Given the description of an element on the screen output the (x, y) to click on. 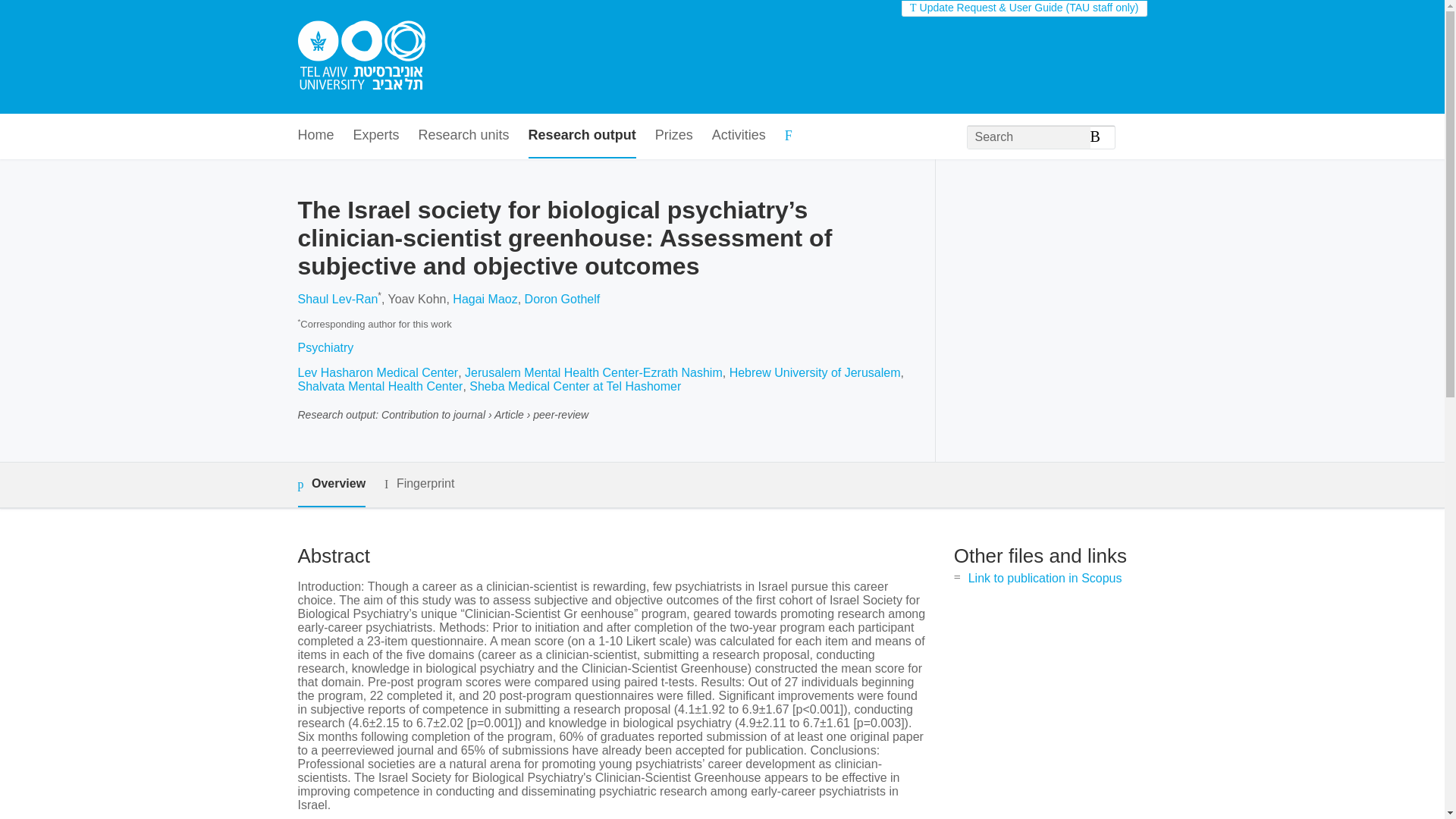
Research units (464, 135)
Link to publication in Scopus (1045, 577)
Lev Hasharon Medical Center (377, 372)
Shalvata Mental Health Center (380, 386)
Hagai Maoz (484, 298)
Shaul Lev-Ran (337, 298)
Hebrew University of Jerusalem (815, 372)
Activities (738, 135)
Doron Gothelf (561, 298)
Research output (582, 135)
